Given the description of an element on the screen output the (x, y) to click on. 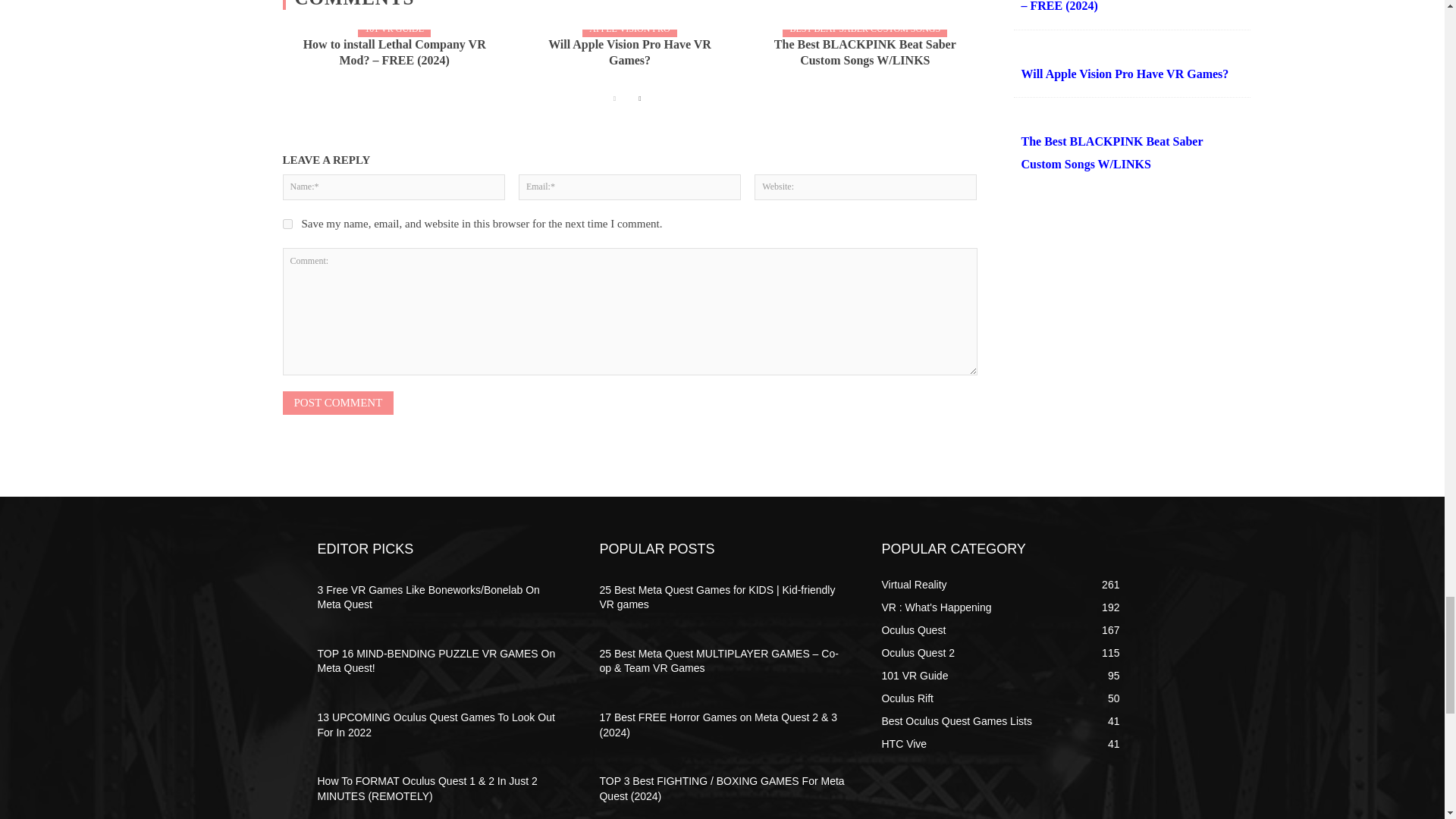
yes (287, 224)
Post Comment (337, 402)
